Given the description of an element on the screen output the (x, y) to click on. 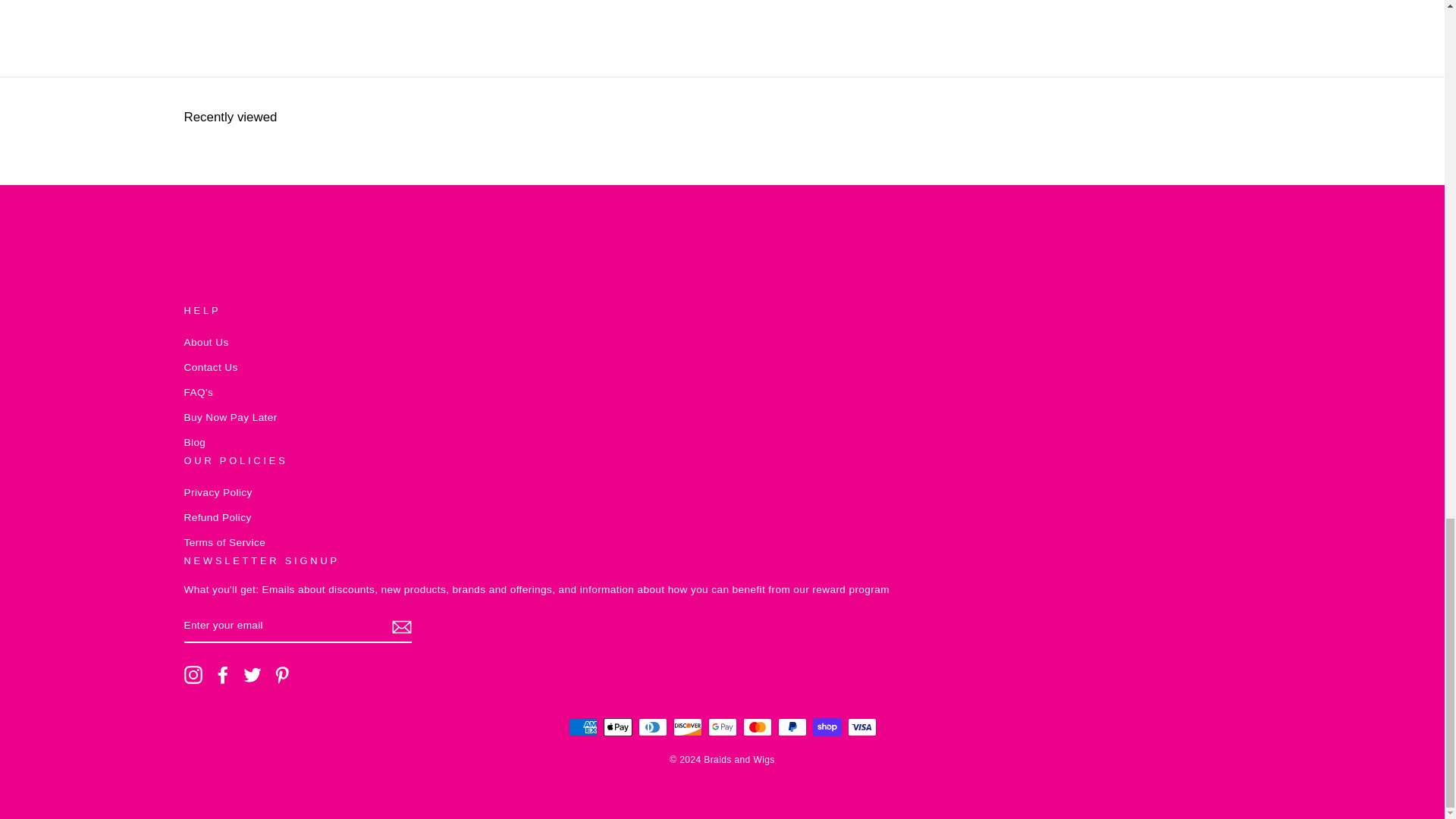
icon-email (400, 627)
Braids and Wigs on Instagram (192, 674)
Braids and Wigs on Twitter (251, 674)
American Express (582, 727)
Braids and Wigs on Facebook (222, 674)
Braids and Wigs on Pinterest (282, 674)
